Given the description of an element on the screen output the (x, y) to click on. 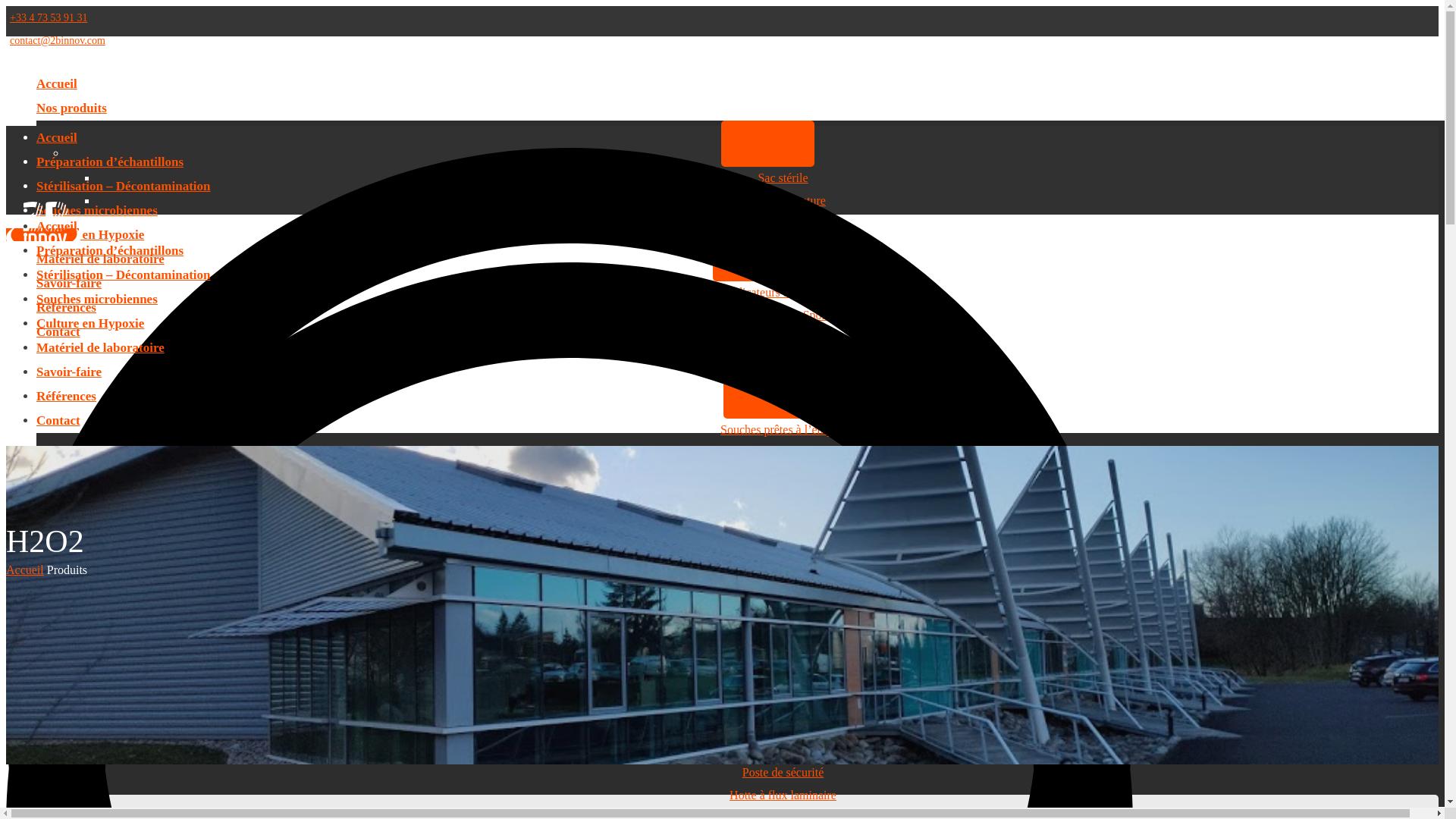
Sachet autoclave Element type: text (783, 337)
+33 4 73 53 91 31 Element type: text (48, 17)
Microscope CytoSMART Lux2 Element type: text (782, 612)
Chambre climatique Element type: text (782, 749)
Accueil Element type: text (56, 226)
Savoir-faire Element type: text (68, 371)
Oxylite/Oxylite Pro Element type: text (782, 566)
Clip de fermeture Element type: text (782, 200)
Autoclave Element type: text (783, 360)
Contact Element type: text (58, 331)
contact@2binnov.com Element type: text (57, 40)
Souches microbiennes Element type: text (96, 210)
Accueil Element type: text (56, 137)
Station de travail : Hypoxylab Element type: text (782, 543)
Accueil Element type: text (24, 569)
Souches microbiennes Element type: text (96, 298)
Culture en Hypoxie Element type: text (90, 234)
Souches
microbiennes Element type: text (767, 404)
Nous contacter Element type: text (42, 234)
Culture
en Hypoxie Element type: text (768, 519)
Indicateurs biologiques Element type: text (783, 292)
Savoir-faire Element type: text (68, 283)
Incubateur CO2/O2 Element type: text (782, 589)
Accueil Element type: text (56, 83)
Suspension de Spores Element type: text (783, 314)
Culture en Hypoxie Element type: text (90, 323)
Contact Element type: text (58, 420)
Gelcount Element type: text (782, 634)
Nos produits Element type: text (71, 107)
Suspensions de spores 10e6-10e8 Element type: text (782, 452)
